Given the description of an element on the screen output the (x, y) to click on. 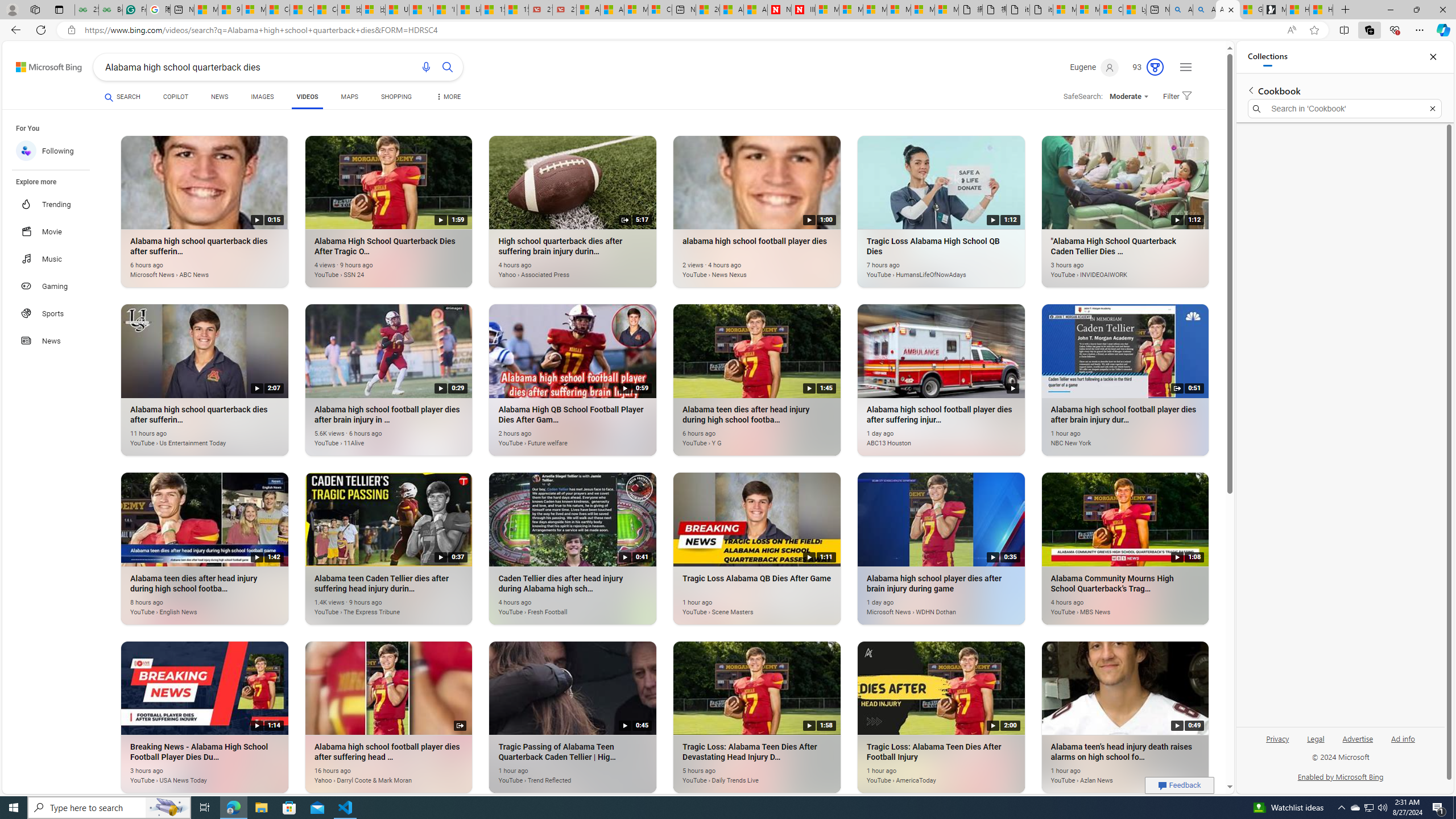
Back to Bing search (41, 64)
SEARCH (122, 96)
15 Ways Modern Life Contradicts the Teachings of Jesus (515, 9)
NEWS (218, 96)
COPILOT (175, 98)
